Given the description of an element on the screen output the (x, y) to click on. 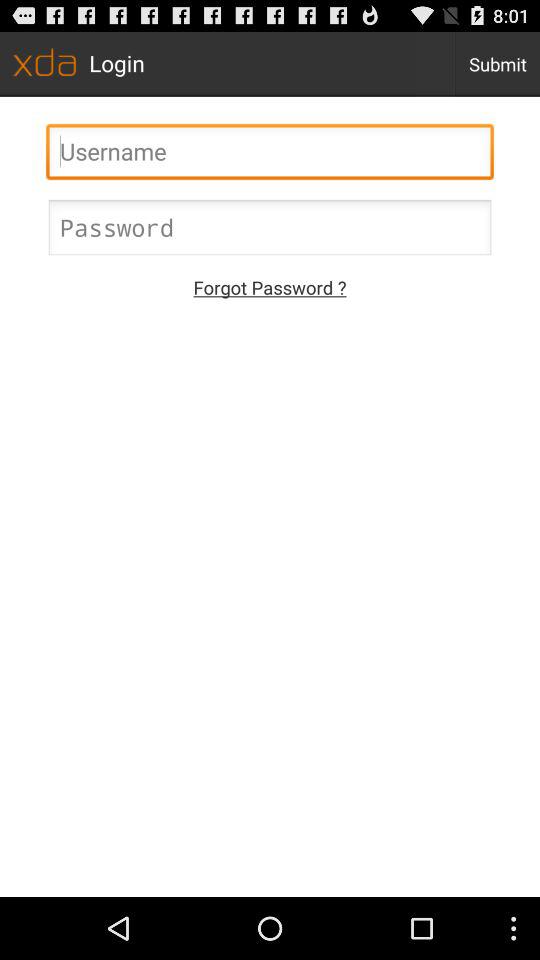
select item at the top right corner (498, 63)
